Given the description of an element on the screen output the (x, y) to click on. 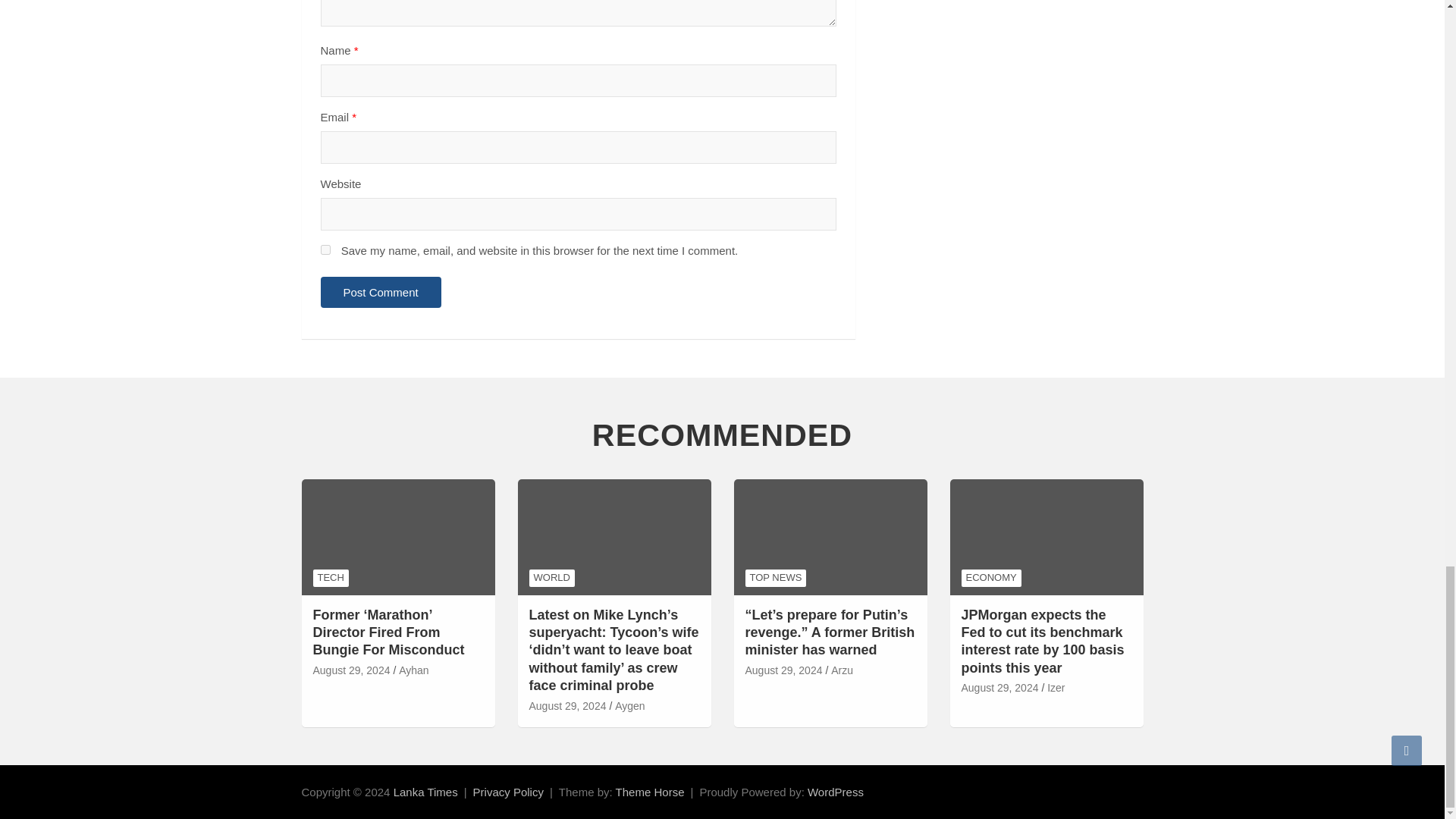
Post Comment (380, 291)
Lanka Times (425, 791)
WordPress (835, 791)
yes (325, 249)
Post Comment (380, 291)
Theme Horse (649, 791)
TECH (330, 577)
